Given the description of an element on the screen output the (x, y) to click on. 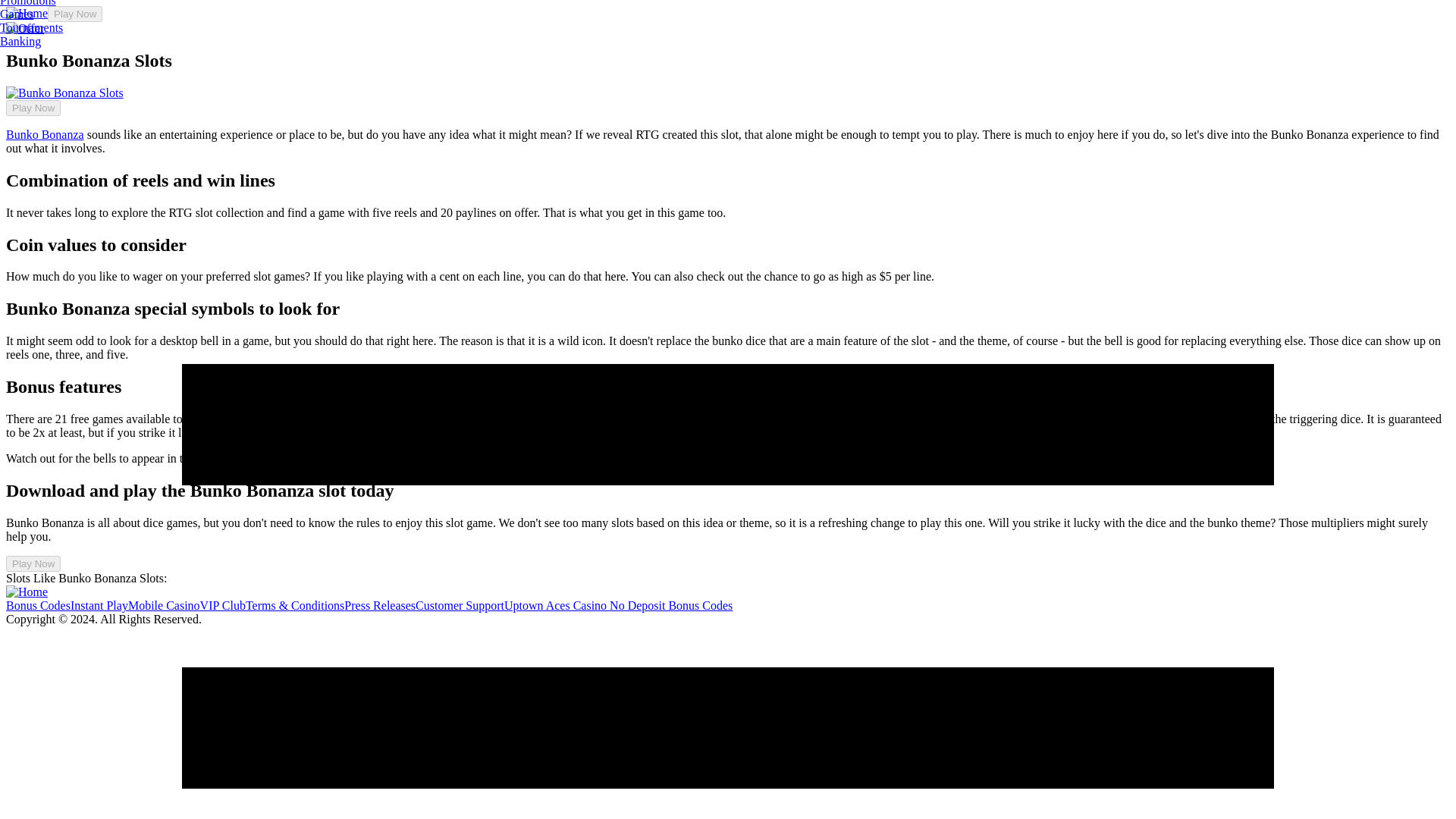
Bunko Bonanza (44, 133)
Play Now (33, 563)
Press Releases (378, 604)
Play Now (74, 13)
Customer Support (458, 604)
Play Now (33, 107)
Bonus Codes (37, 604)
Instant Play (98, 604)
Mobile Casino (164, 604)
VIP Club (223, 604)
